Given the description of an element on the screen output the (x, y) to click on. 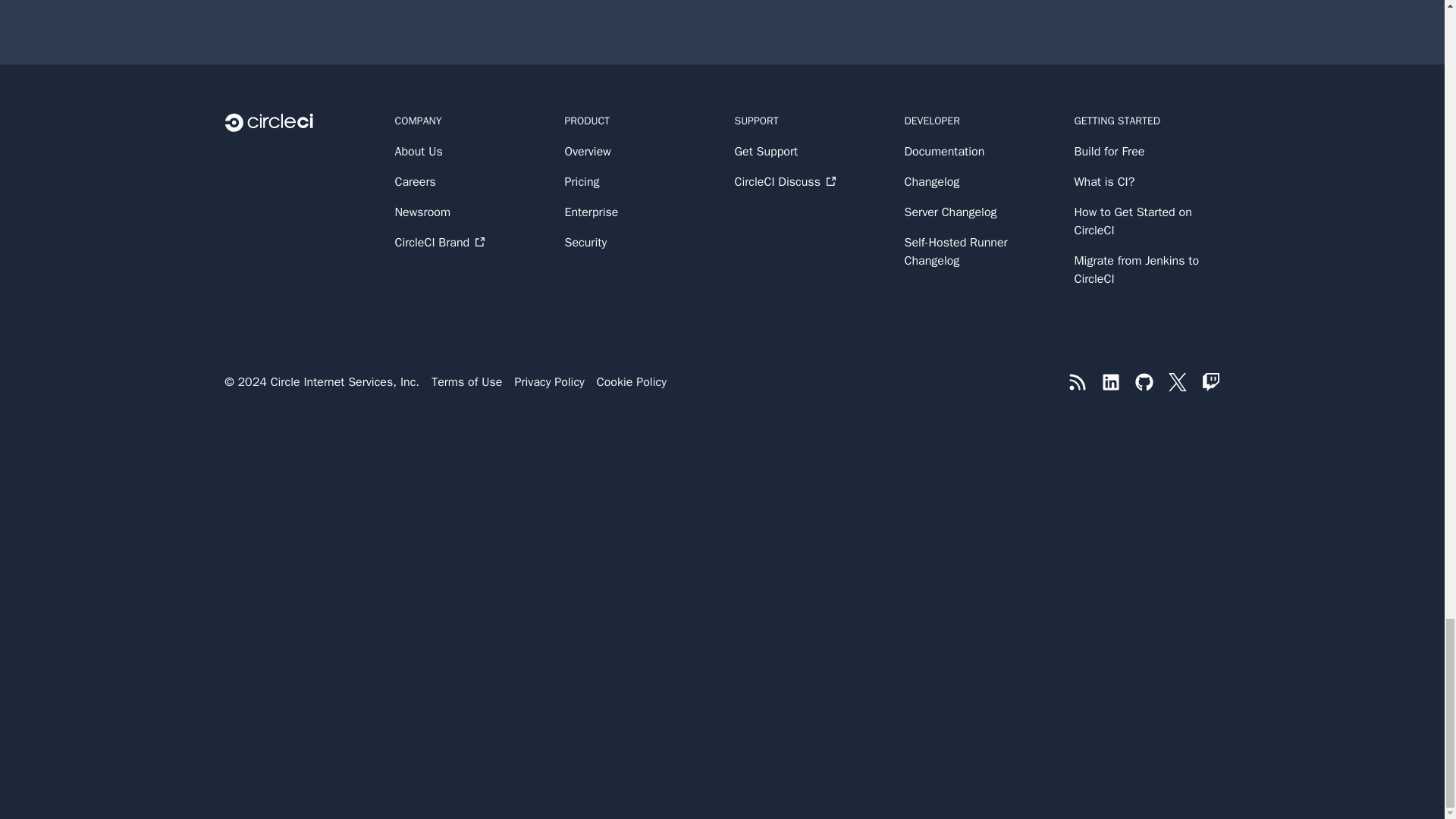
Cookie Policy (631, 382)
Changelog (976, 181)
Overview (637, 151)
GitHub (1143, 382)
GitHub (1143, 382)
CircleCI Brand (467, 242)
RSS (1076, 382)
Terms of Use (466, 382)
RSS (1076, 382)
Pricing (637, 181)
